Given the description of an element on the screen output the (x, y) to click on. 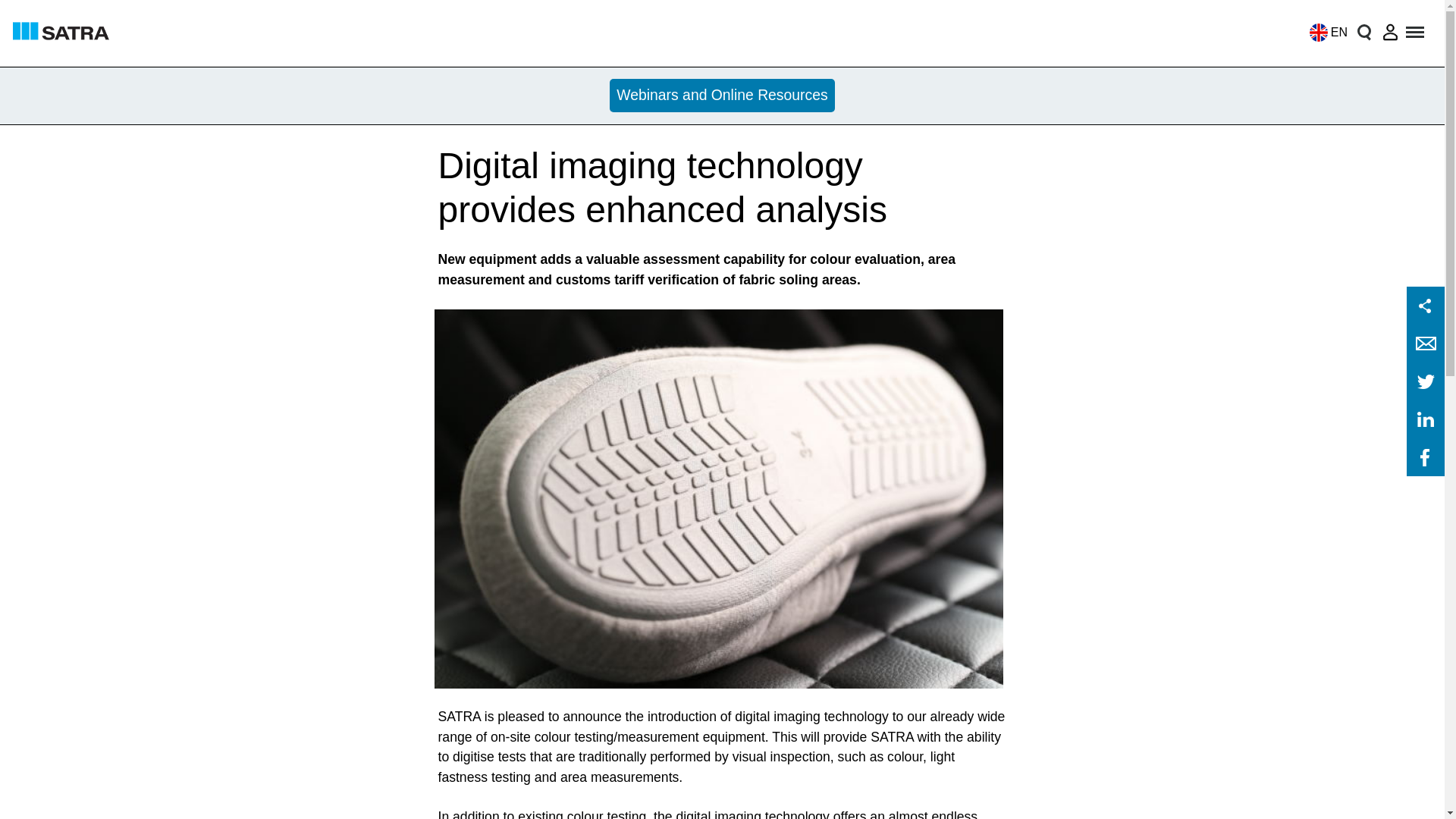
Webinars and Online Resources (722, 95)
Search this site (1363, 32)
Change language (1324, 32)
EN (1324, 32)
Navigation menu (1415, 32)
